Given the description of an element on the screen output the (x, y) to click on. 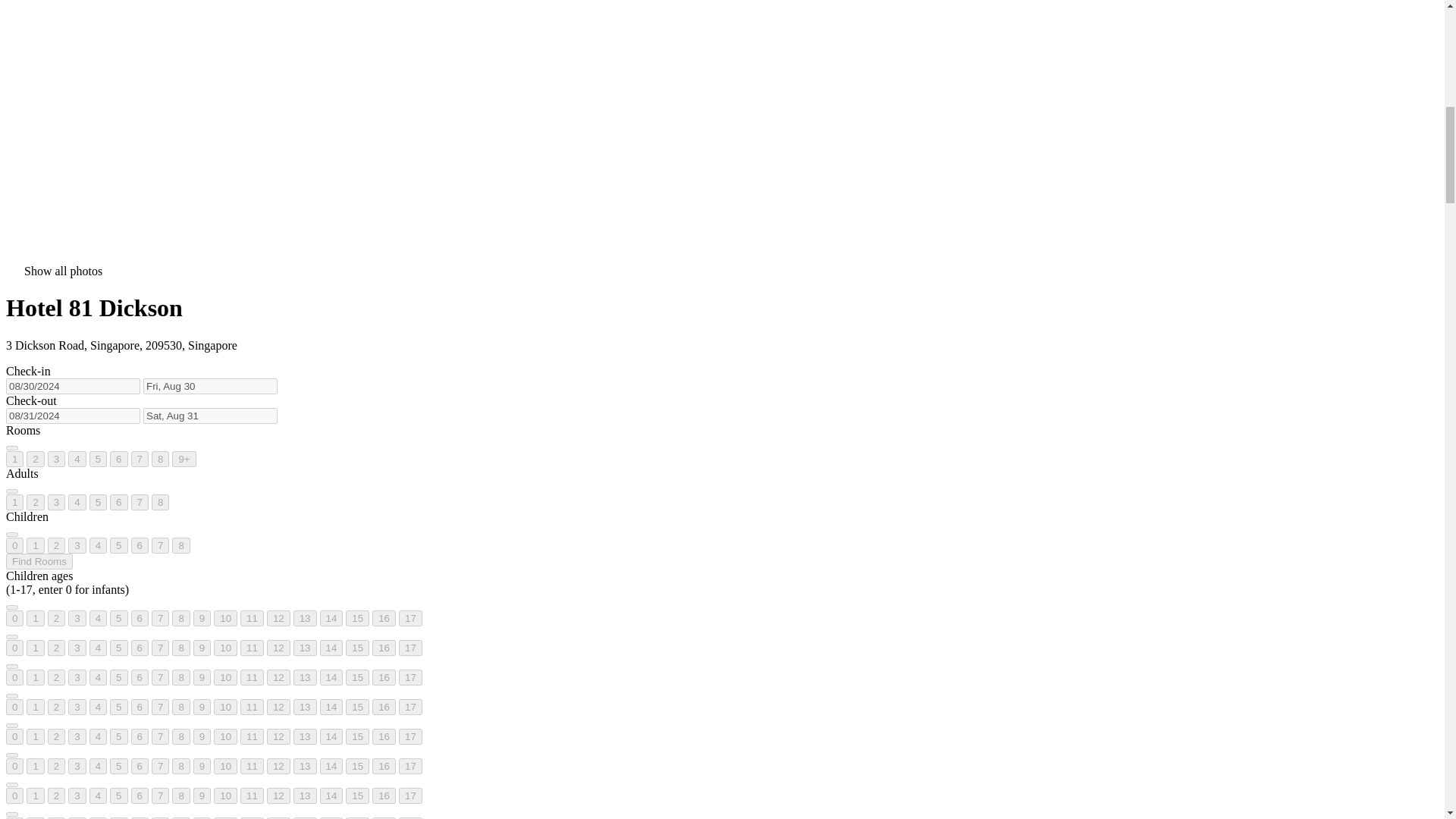
4 (76, 458)
6 (119, 458)
3 (76, 545)
1 (34, 545)
4 (76, 502)
5 (97, 458)
1 (14, 502)
5 (97, 502)
4 (97, 545)
0 (14, 545)
